Given the description of an element on the screen output the (x, y) to click on. 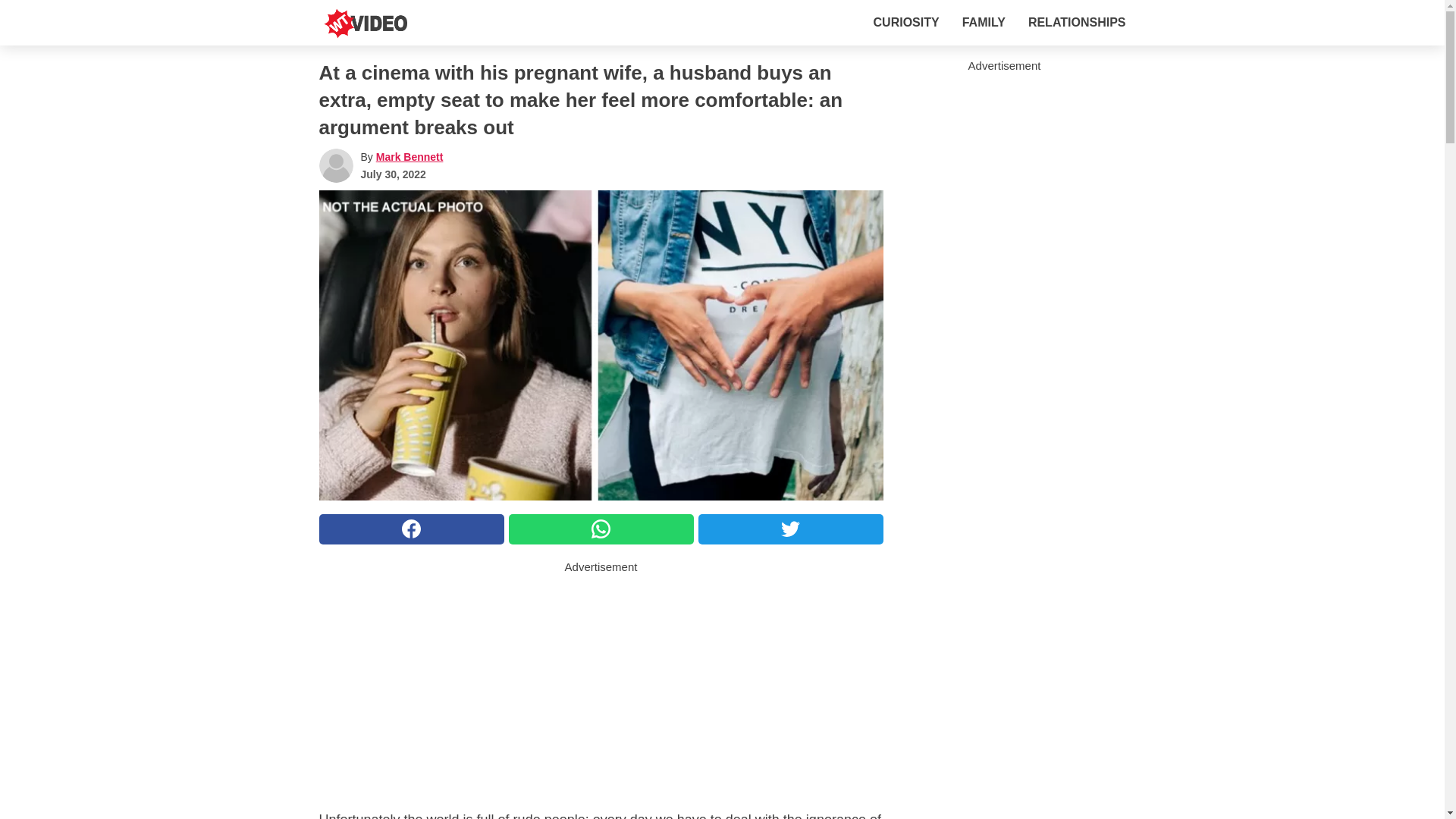
FAMILY (984, 22)
CURIOSITY (906, 22)
Mark Bennett (409, 156)
RELATIONSHIPS (1076, 22)
